Given the description of an element on the screen output the (x, y) to click on. 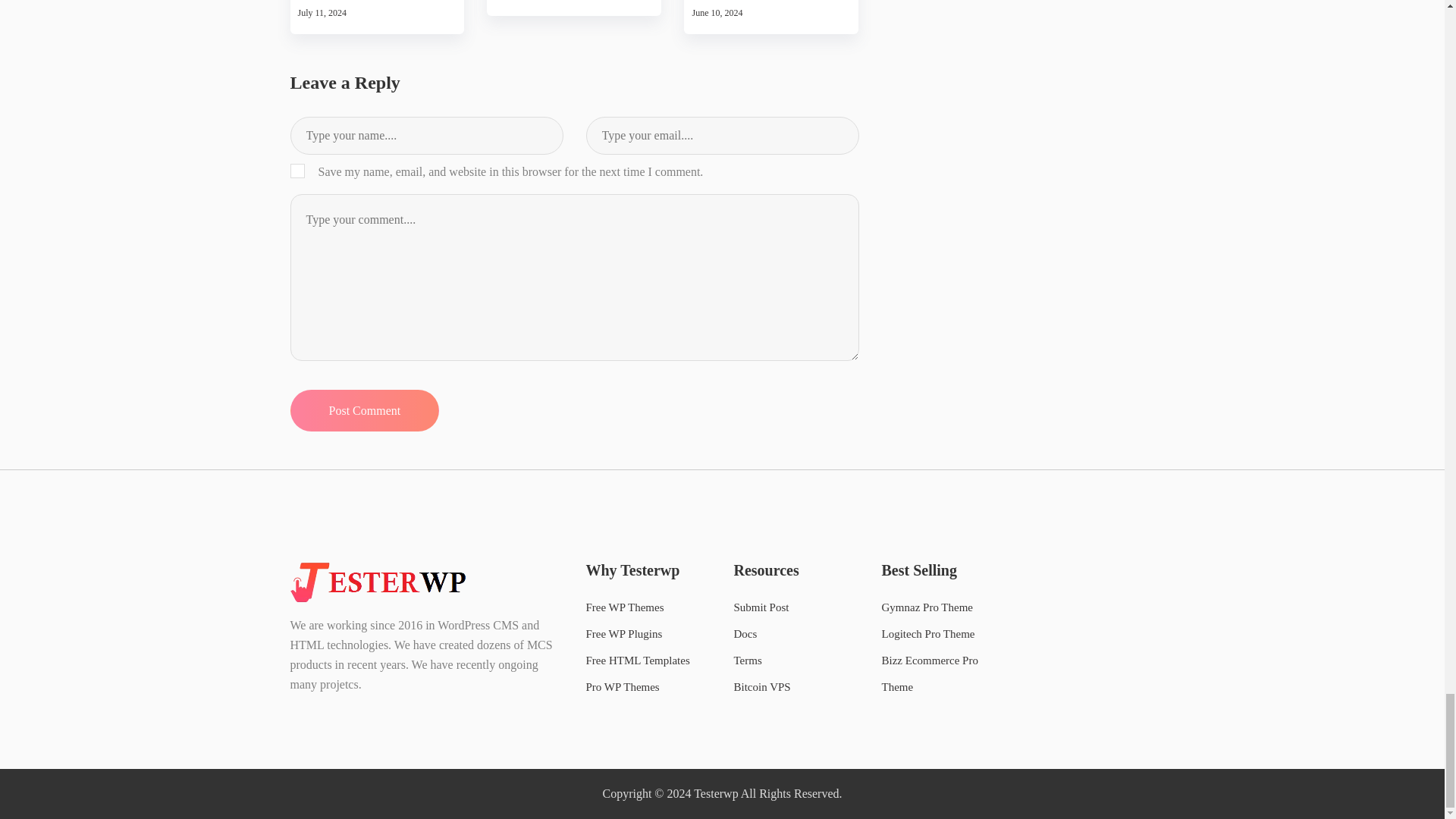
yes (296, 170)
